Given the description of an element on the screen output the (x, y) to click on. 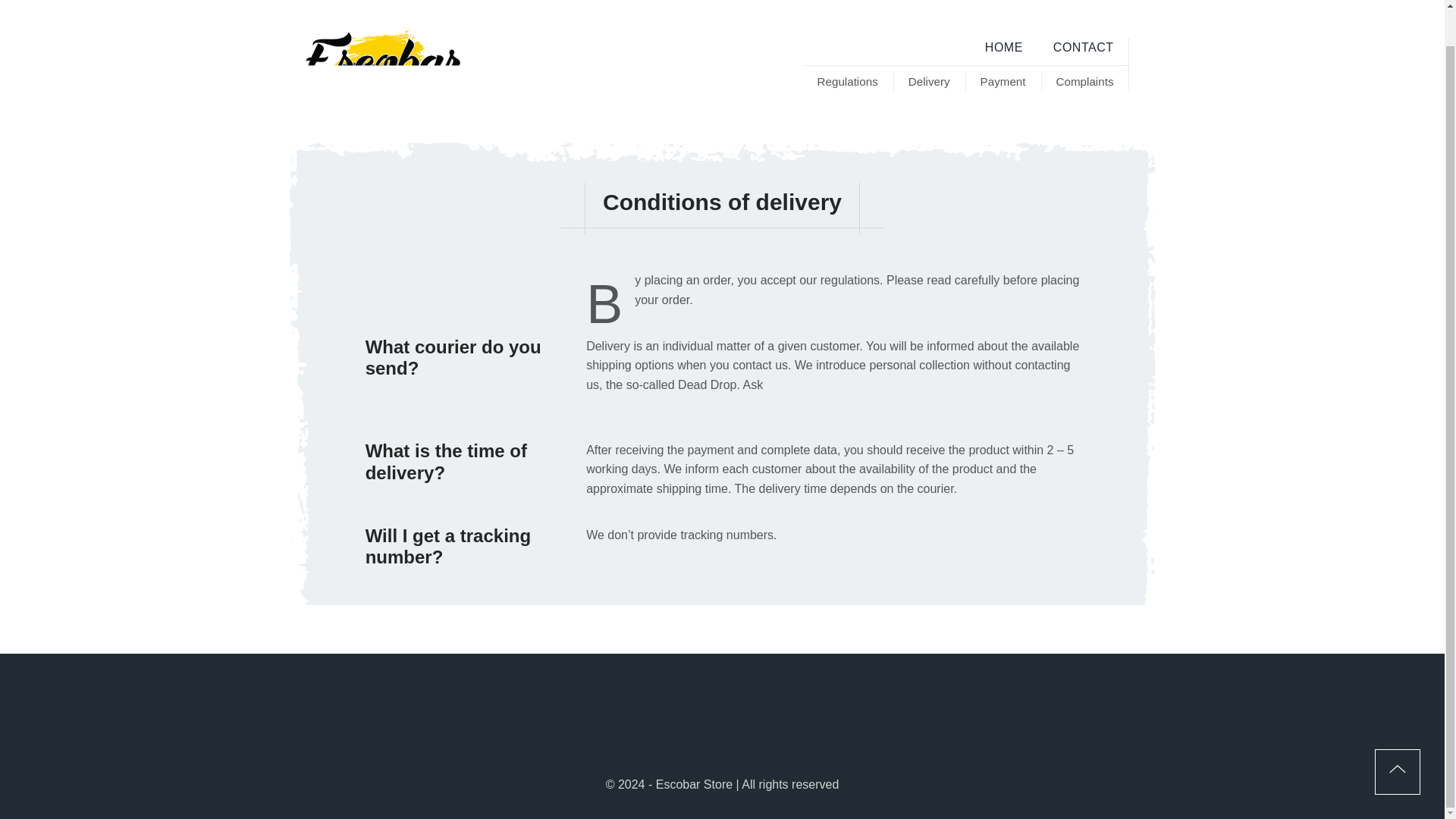
Complaints (1085, 81)
Regulations (847, 81)
Payment (1003, 81)
Escobar Store (382, 64)
CONTACT (1083, 47)
Delivery (929, 81)
HOME (1003, 47)
